Given the description of an element on the screen output the (x, y) to click on. 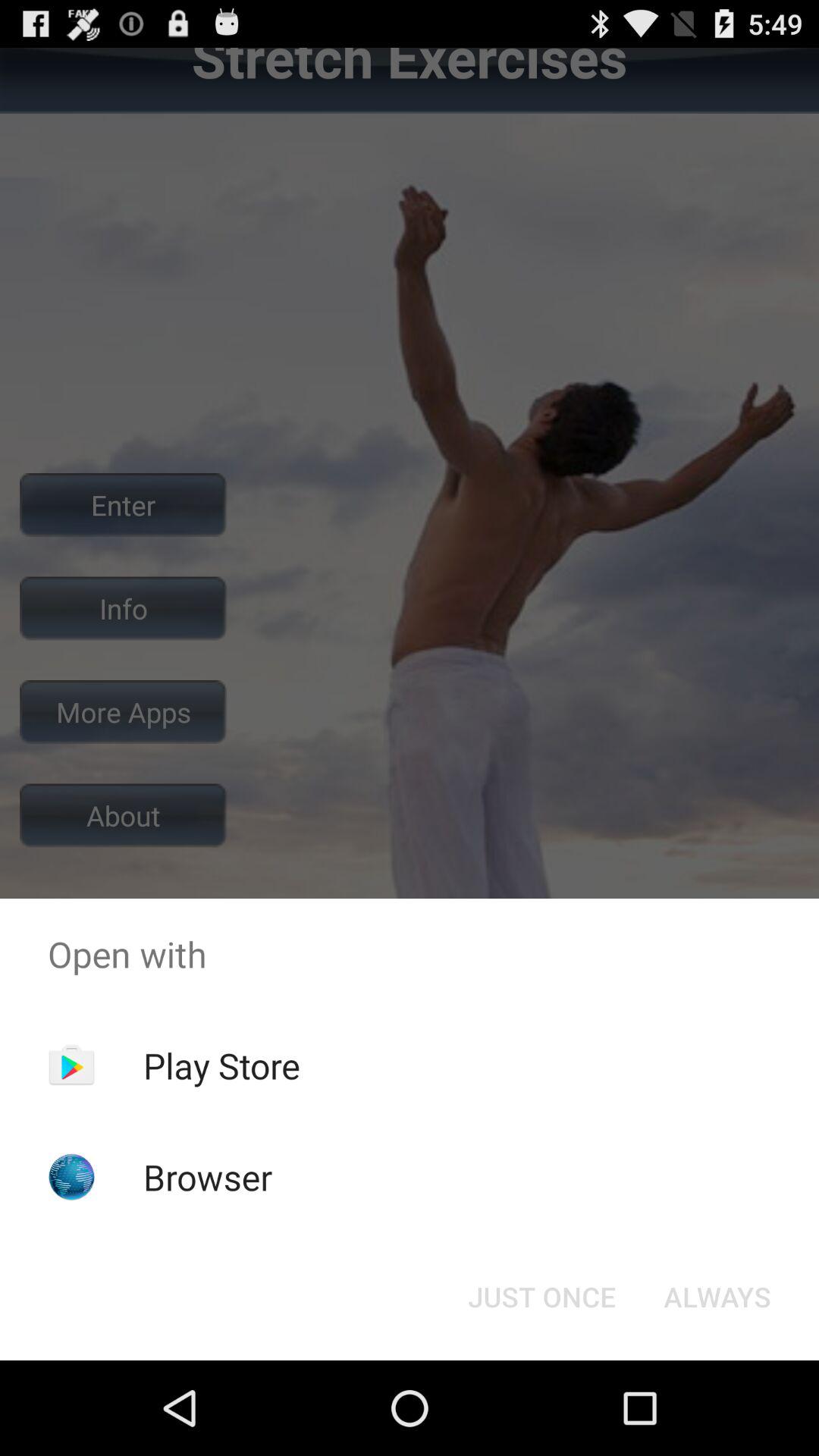
launch the app below the open with app (541, 1296)
